Given the description of an element on the screen output the (x, y) to click on. 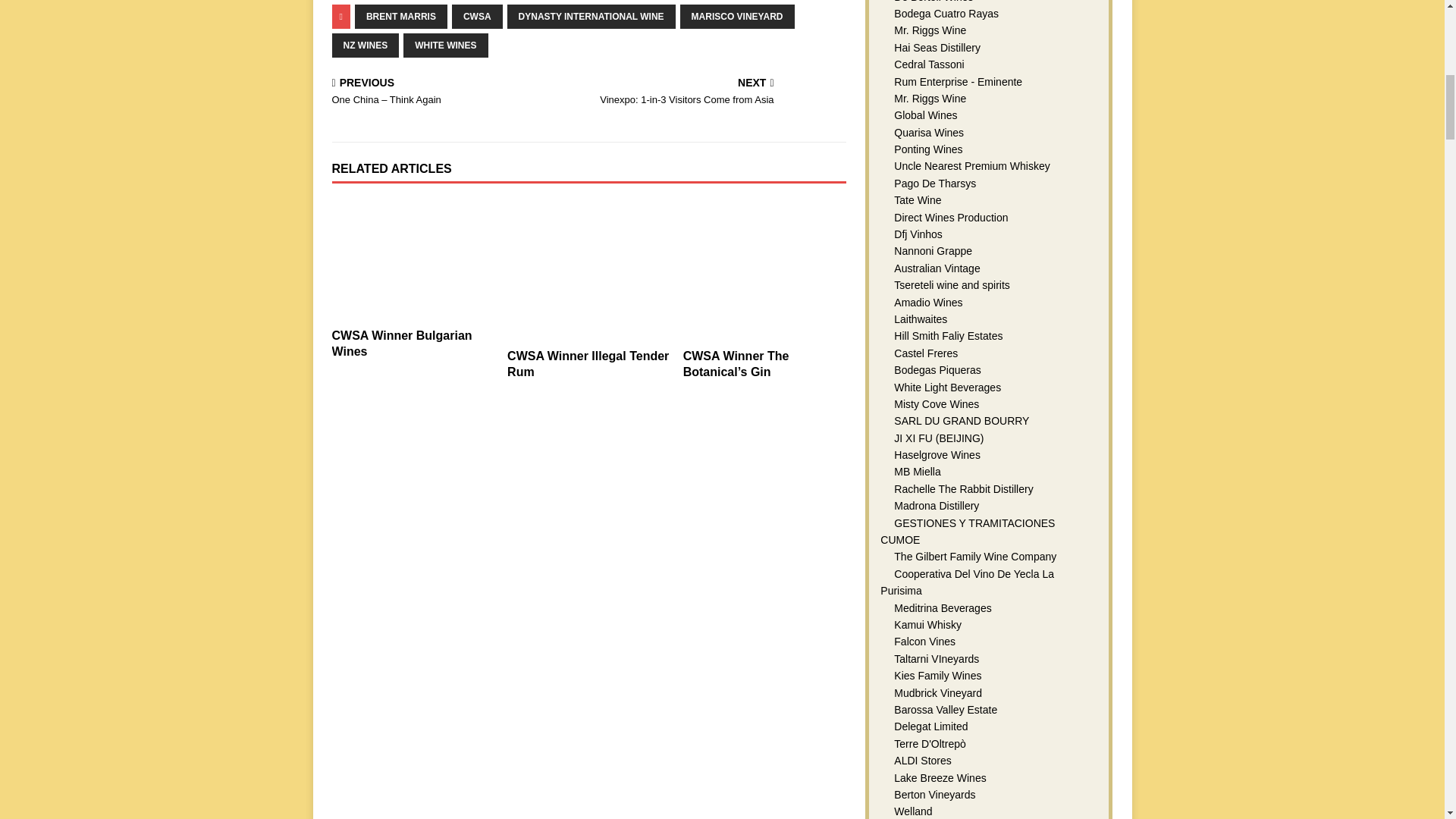
CWSA Winner Illegal Tender Rum (587, 363)
CWSA Winner Bulgarian Wines (401, 343)
CWSA Winner Illegal Tender Rum (587, 270)
CWSA Winner Bulgarian Wines (413, 260)
